Given the description of an element on the screen output the (x, y) to click on. 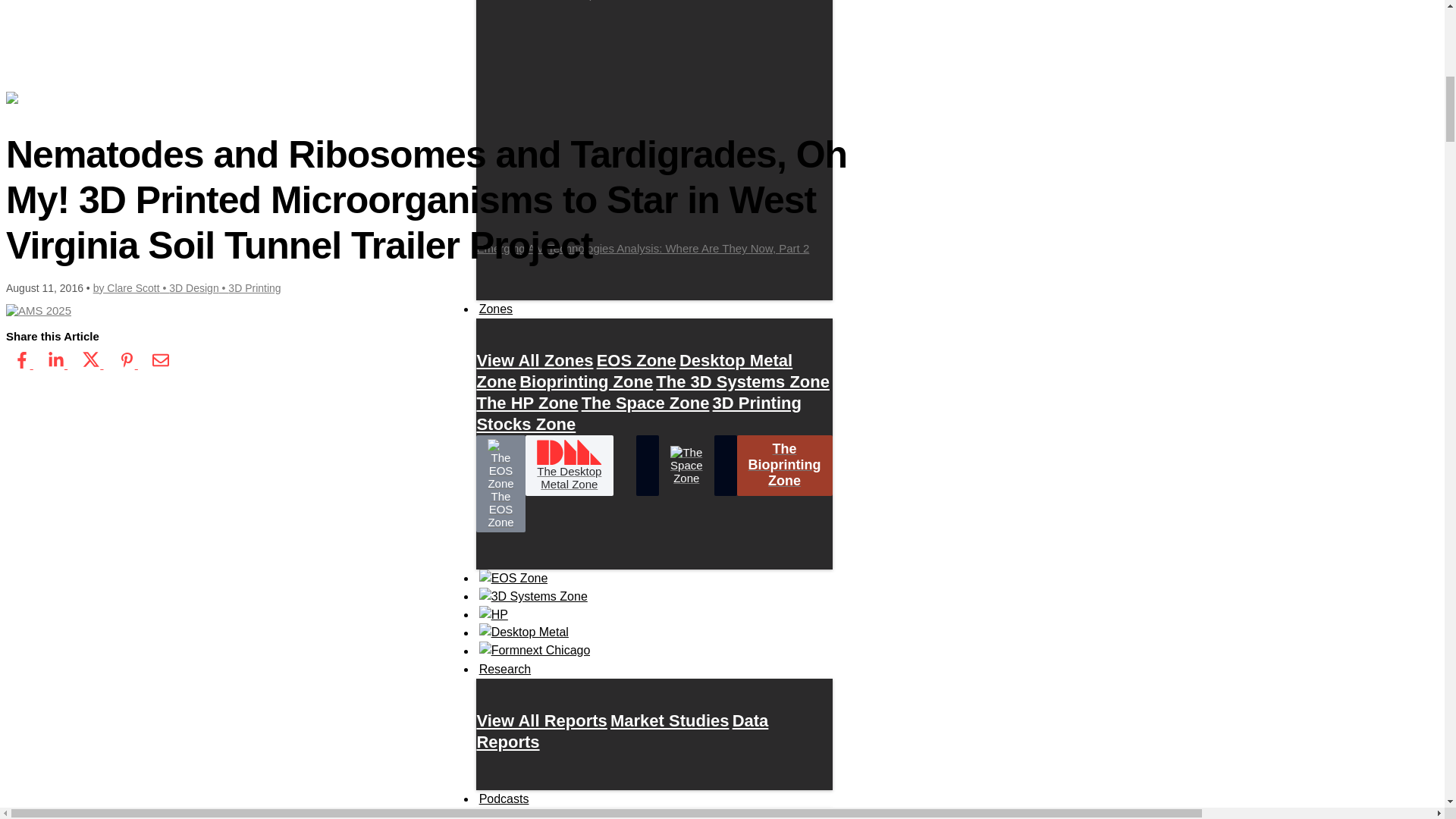
Zones (495, 309)
View All Zones (534, 359)
3D Printing Stocks Zone (638, 412)
The 3D Systems Zone (742, 380)
Desktop Metal Zone (634, 370)
The HP Zone (527, 401)
EOS Zone (636, 359)
The Space Zone (645, 401)
The Desktop Metal Zone (568, 465)
Bioprinting Zone (585, 380)
